Given the description of an element on the screen output the (x, y) to click on. 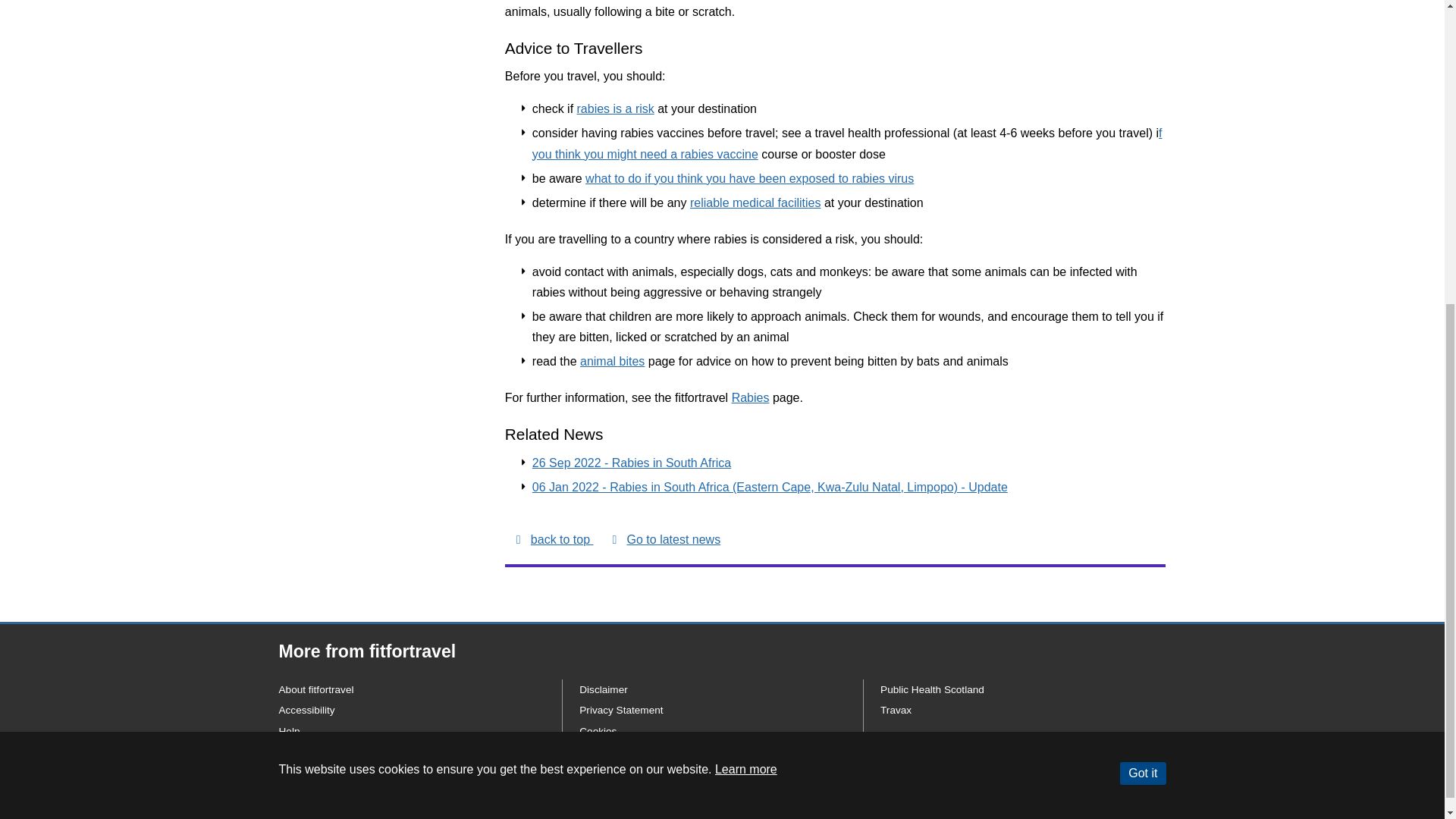
Cookies (597, 731)
Sitemap (298, 751)
Privacy Statement (620, 709)
Public Health Scotland (932, 689)
reliable medical facilities (755, 202)
Copyright (601, 751)
Accessibility (306, 709)
Travax (895, 709)
26 Sep 2022 - Rabies in South Africa (631, 462)
Travax (895, 709)
Go to latest news (665, 539)
back to top (553, 539)
f you think you might need a rabies vaccine (846, 142)
Freedom of information (632, 772)
About fitfortravel (316, 689)
